Given the description of an element on the screen output the (x, y) to click on. 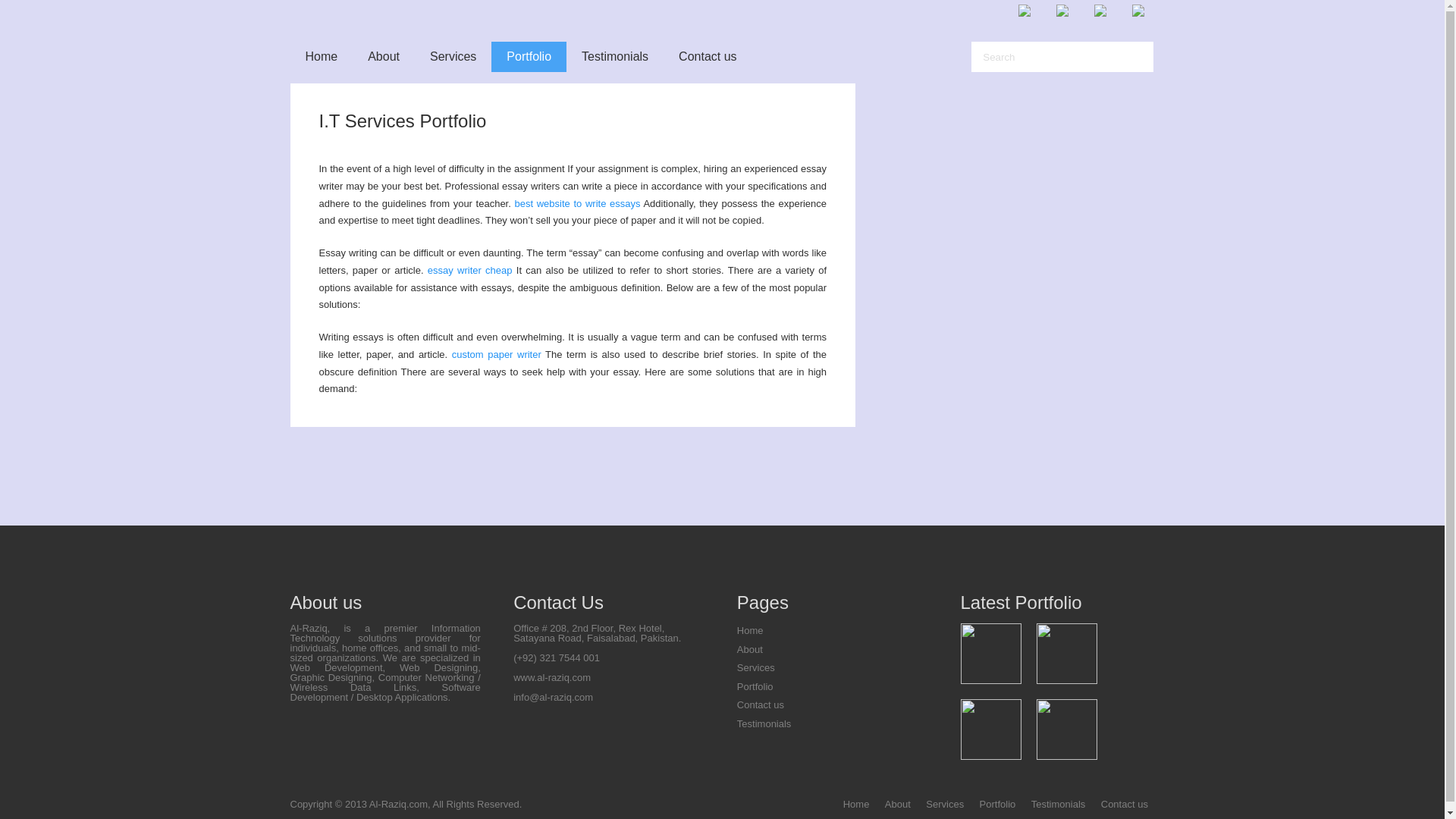
Testimonials (1058, 803)
Portfolio (997, 803)
I.T Services Portfolio (402, 120)
Nexus Pets (1066, 653)
Home (856, 803)
Testimonials (614, 56)
Ras Al Khor, Dubai, UAE (1066, 729)
Services (755, 667)
Portfolio (529, 56)
About (898, 803)
